Given the description of an element on the screen output the (x, y) to click on. 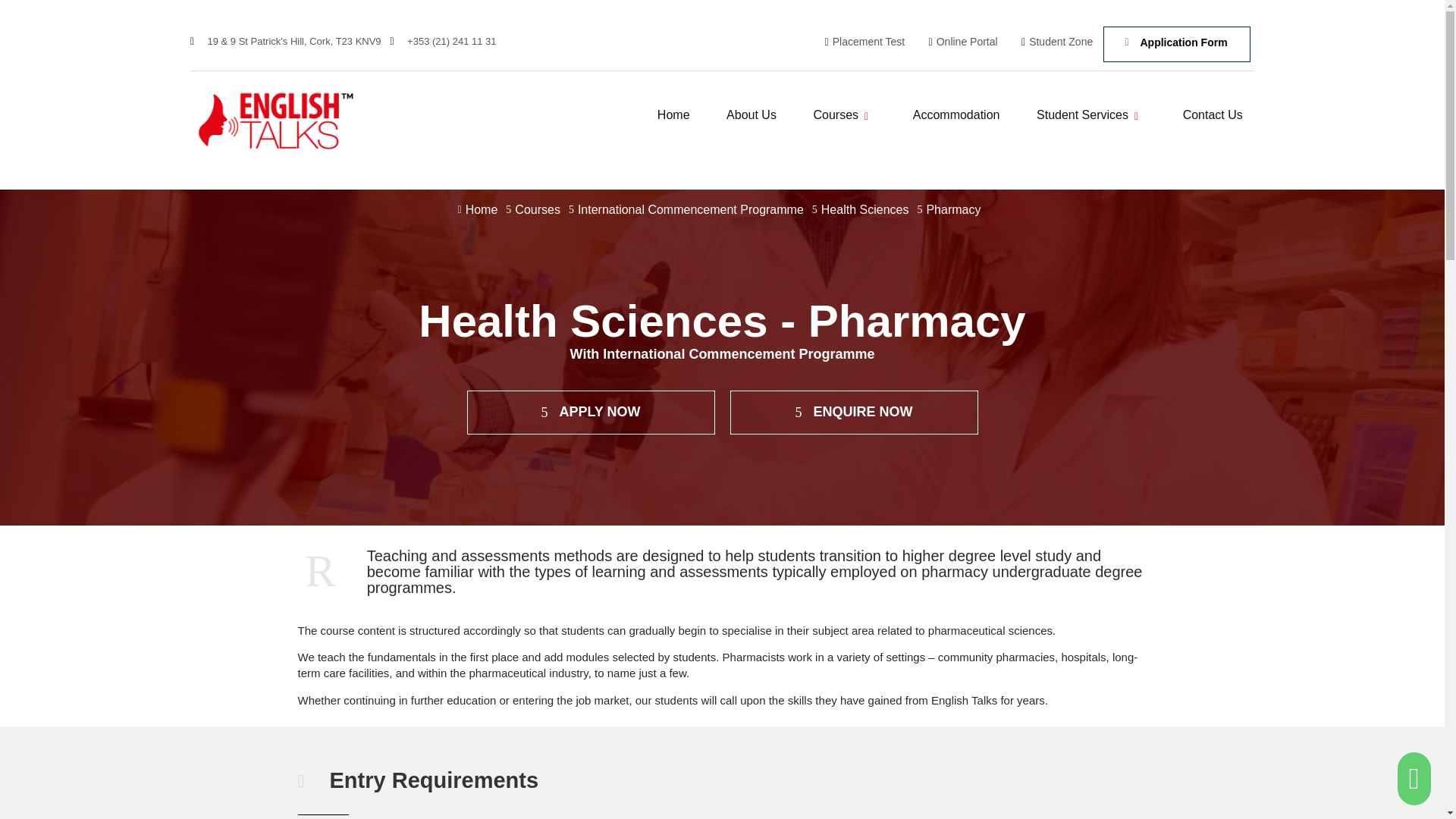
Student Zone (1052, 41)
Placement Test (859, 41)
Online Portal (957, 41)
Student Services (1091, 114)
Application Form (1176, 44)
Home (673, 114)
Courses (844, 114)
Accommodation (956, 114)
About Us (751, 114)
